Given the description of an element on the screen output the (x, y) to click on. 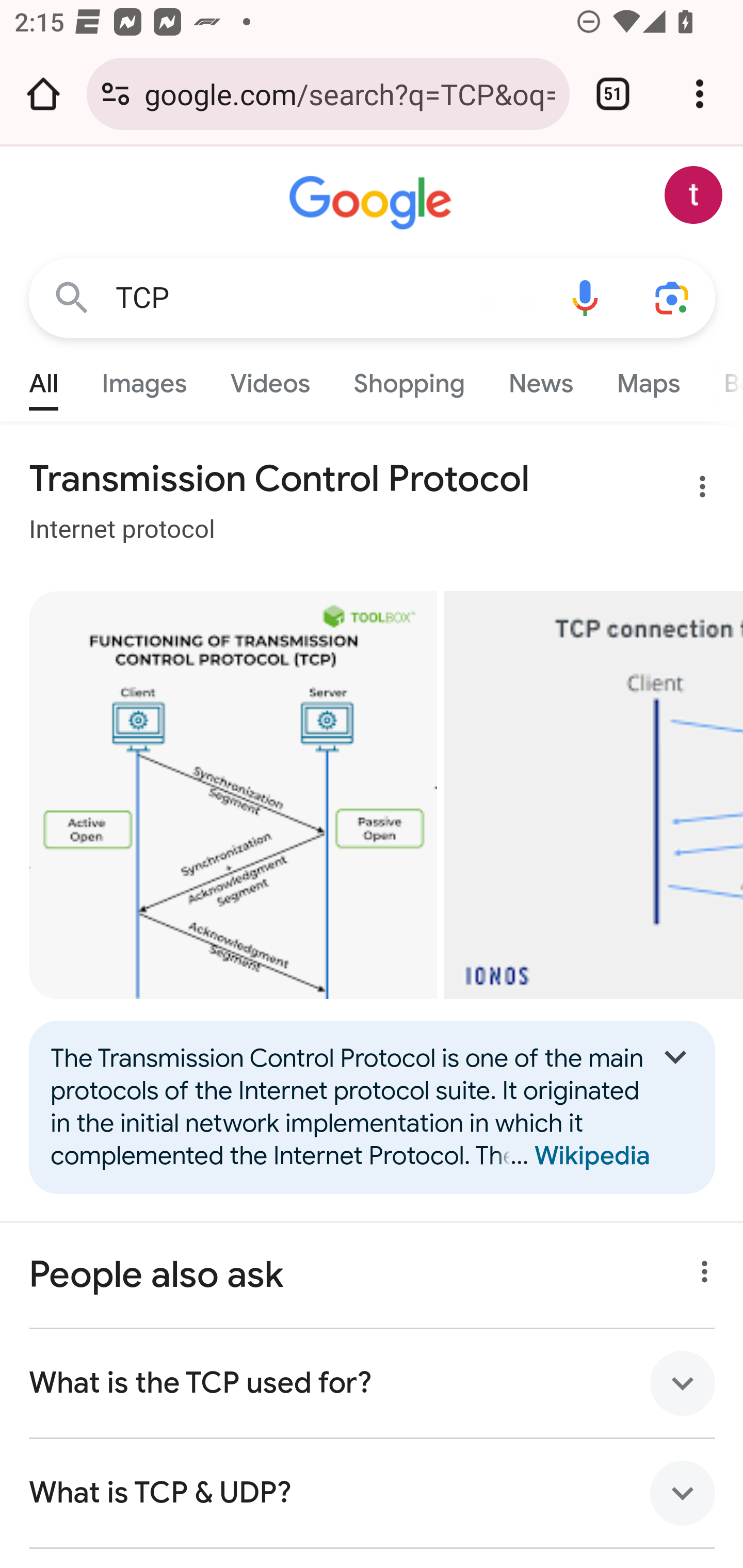
Open the home page (43, 93)
Connection is secure (115, 93)
Switch or close tabs (612, 93)
Customize and control Google Chrome (699, 93)
